Given the description of an element on the screen output the (x, y) to click on. 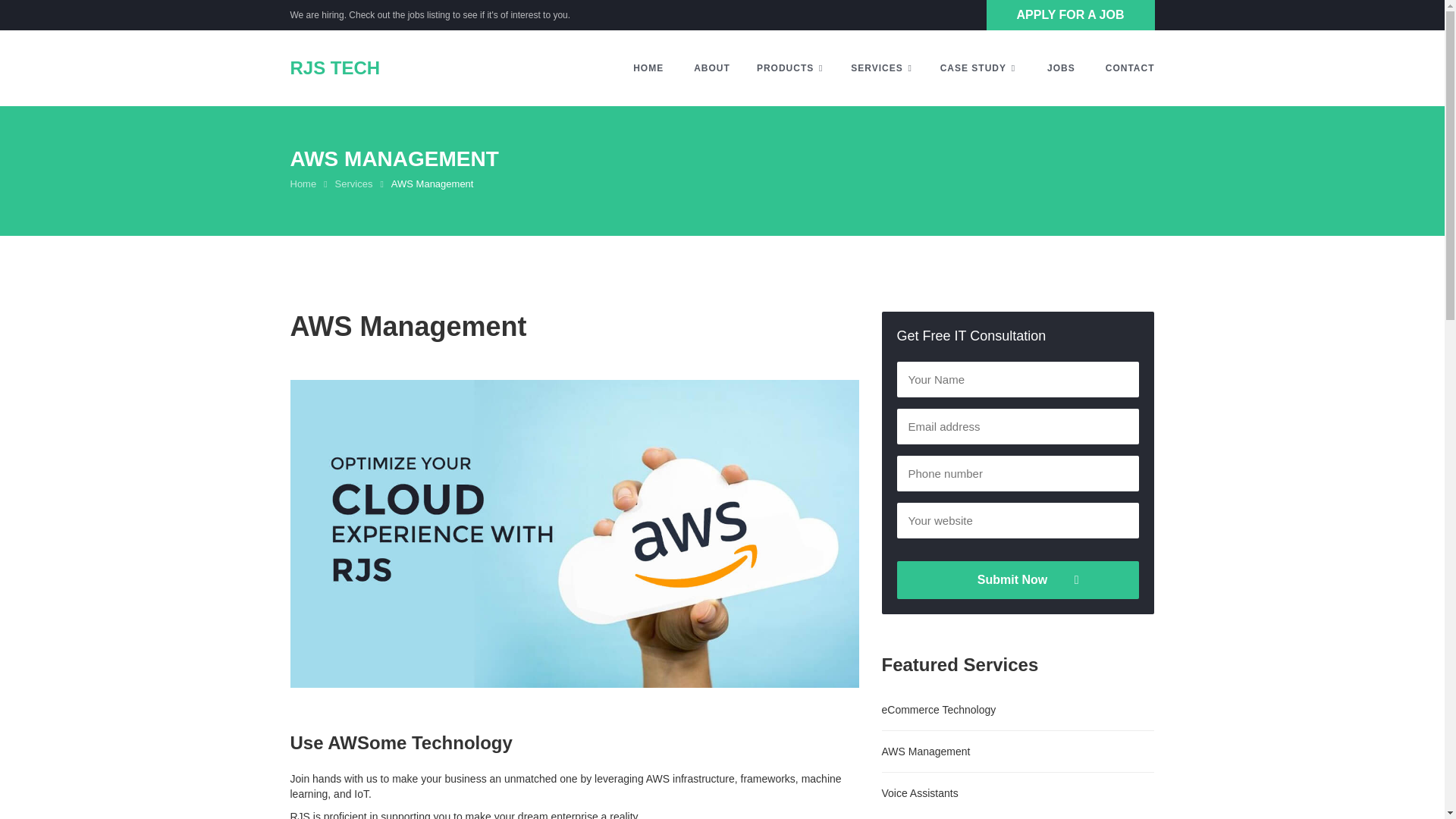
APPLY FOR A JOB (1070, 15)
CASE STUDY (980, 68)
PRODUCTS (792, 68)
Submit Now (1017, 579)
SERVICES (884, 68)
RJS TECH (338, 68)
